Given the description of an element on the screen output the (x, y) to click on. 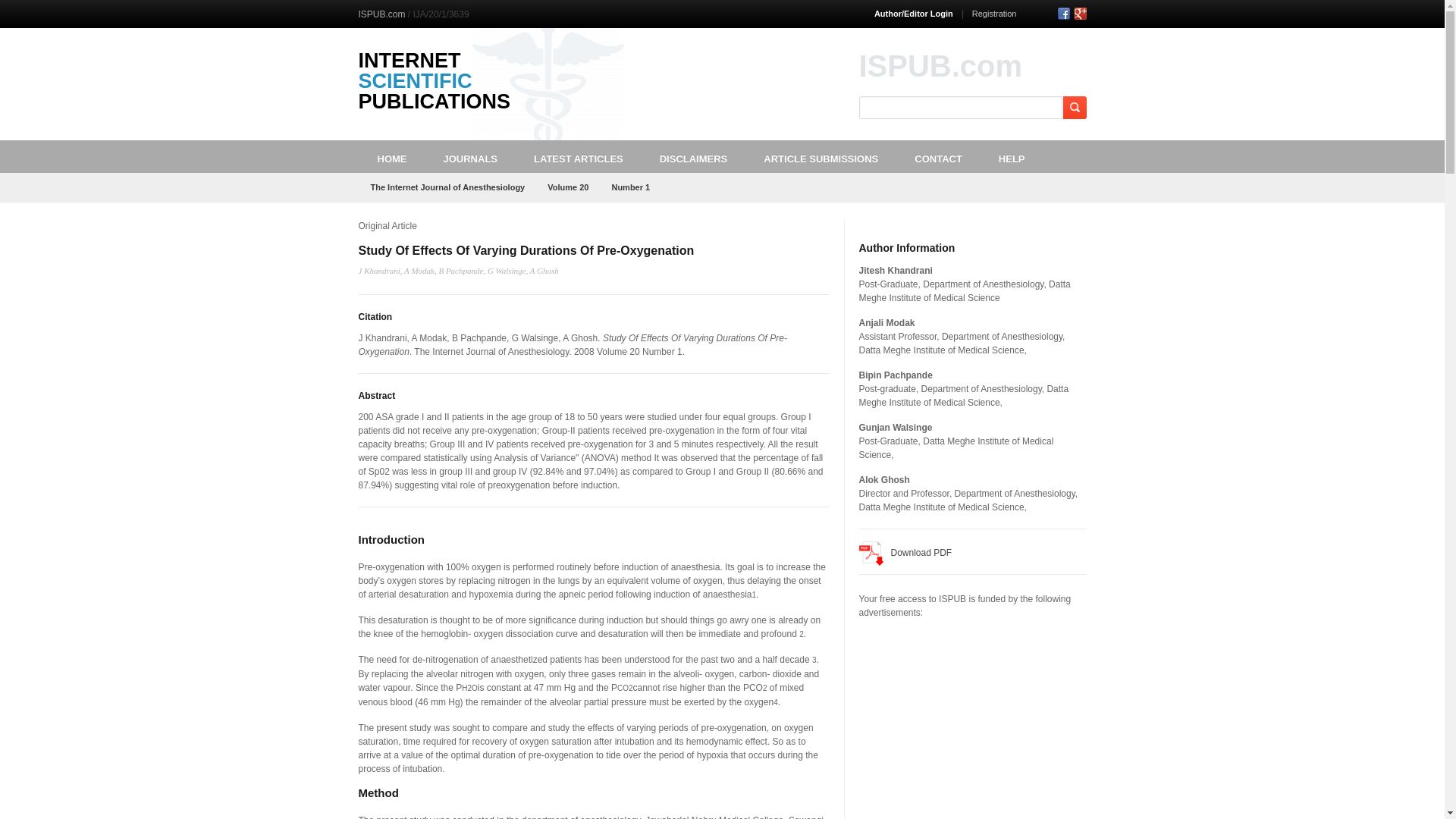
Number 1 (630, 187)
Study Of Effects Of Varying Durations Of Pre-Oxygenation (526, 250)
CONTACT (937, 156)
Search (1074, 107)
Search... (960, 107)
Registration (994, 13)
The Internet Journal of Anesthesiology (447, 187)
Facebook (1062, 13)
Google Plus (1080, 13)
ISPUB.com (381, 14)
